Given the description of an element on the screen output the (x, y) to click on. 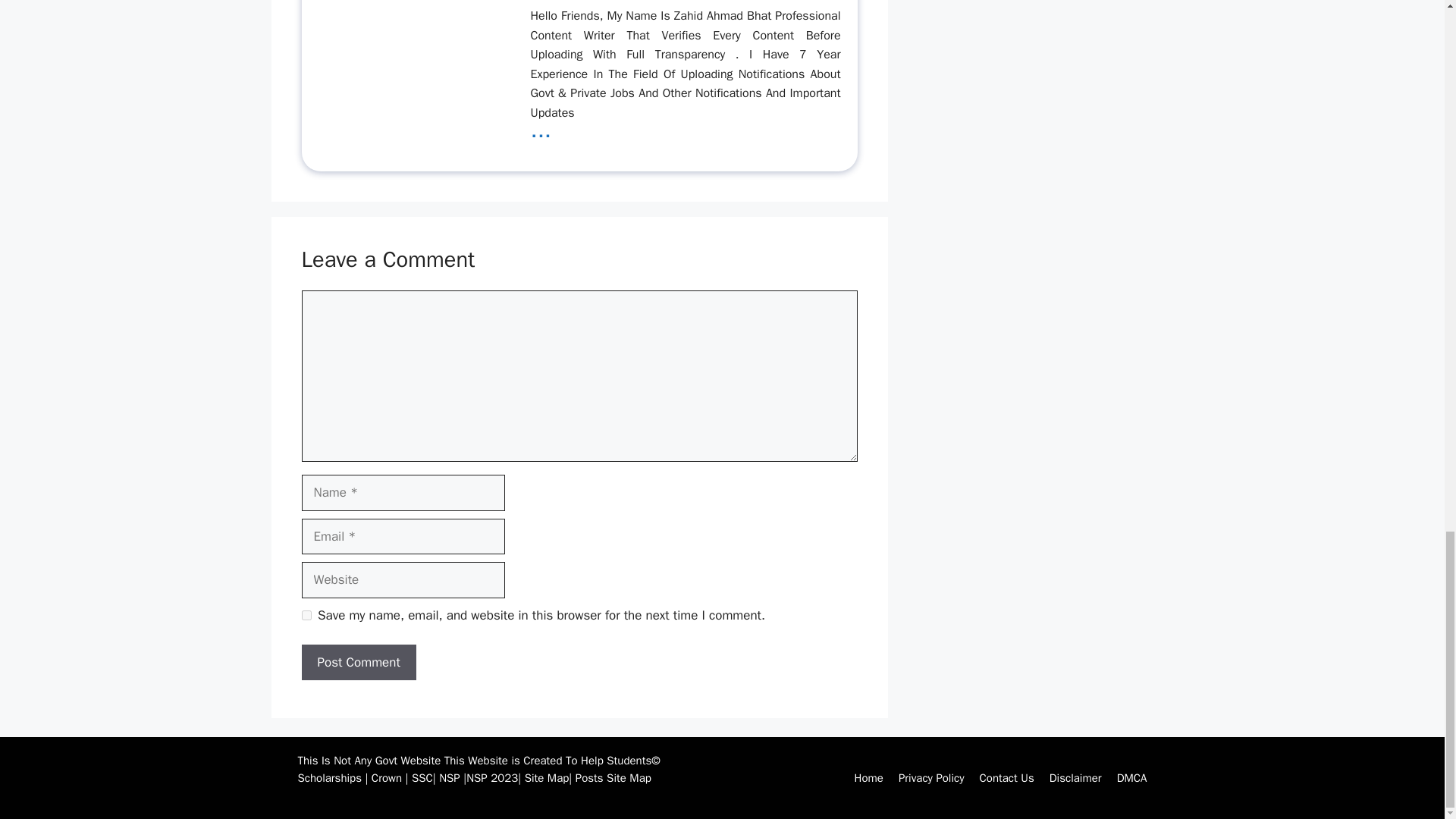
Post Comment (358, 662)
Scroll back to top (1406, 6)
Contact Us (1006, 777)
Privacy Policy (930, 777)
Post Comment (358, 662)
Disclaimer (1075, 777)
yes (306, 614)
Home (868, 777)
DMCA (1131, 777)
